Given the description of an element on the screen output the (x, y) to click on. 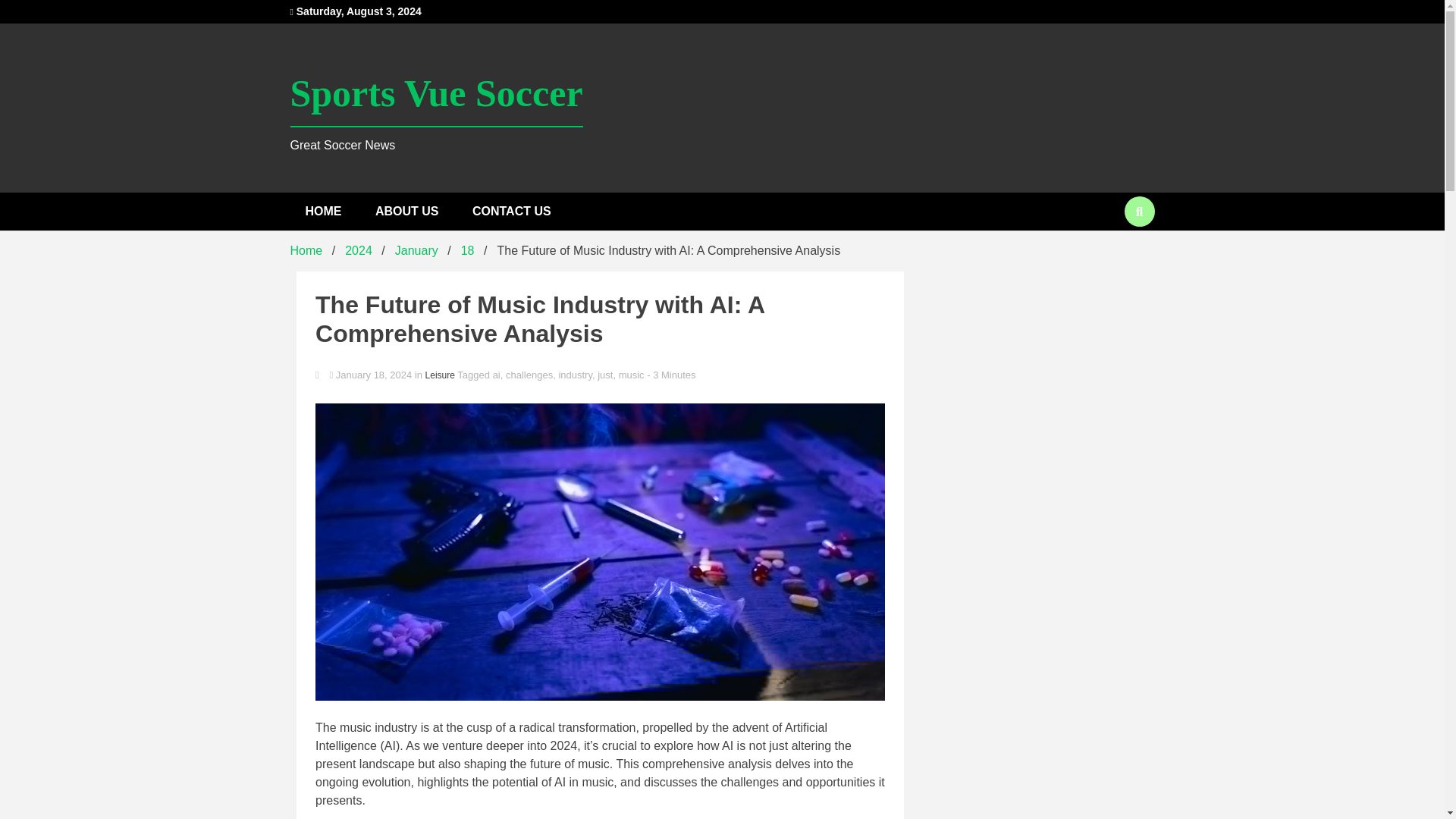
January 18, 2024 (371, 374)
Sports Vue Soccer (435, 94)
2024 (358, 250)
CONTACT US (511, 211)
industry (574, 374)
music (631, 374)
18 (467, 250)
just (604, 374)
January (416, 250)
HOME (322, 211)
Estimated Reading Time of Article (670, 374)
Leisure (439, 375)
Home (305, 250)
challenges (529, 374)
ABOUT US (406, 211)
